Given the description of an element on the screen output the (x, y) to click on. 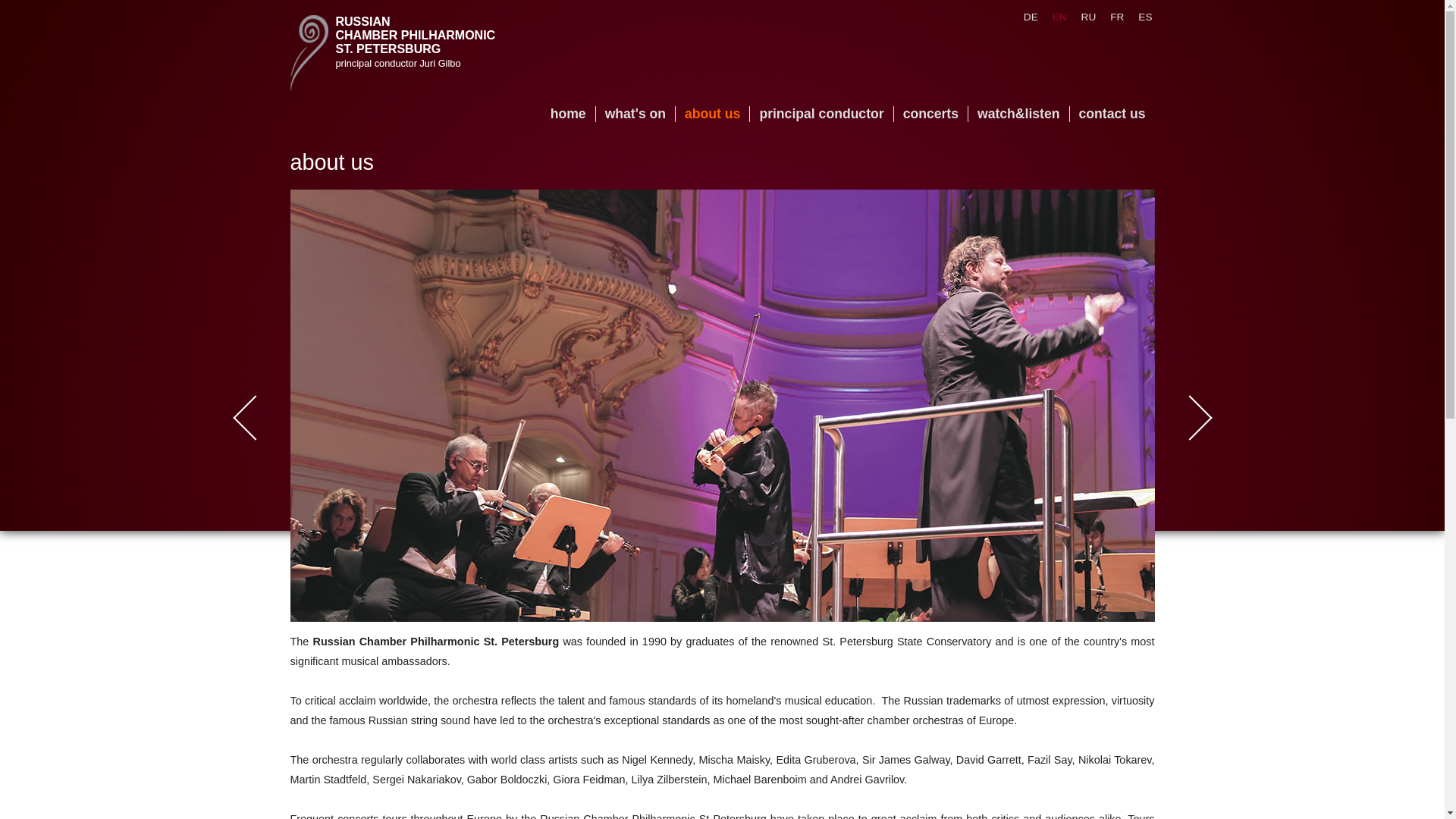
ES (1138, 16)
RU (1083, 16)
home (568, 114)
what's on (635, 114)
principal conductor (821, 114)
concerts (930, 114)
DE (1024, 16)
contact us (1111, 114)
FR (1111, 16)
EN (1054, 16)
